Given the description of an element on the screen output the (x, y) to click on. 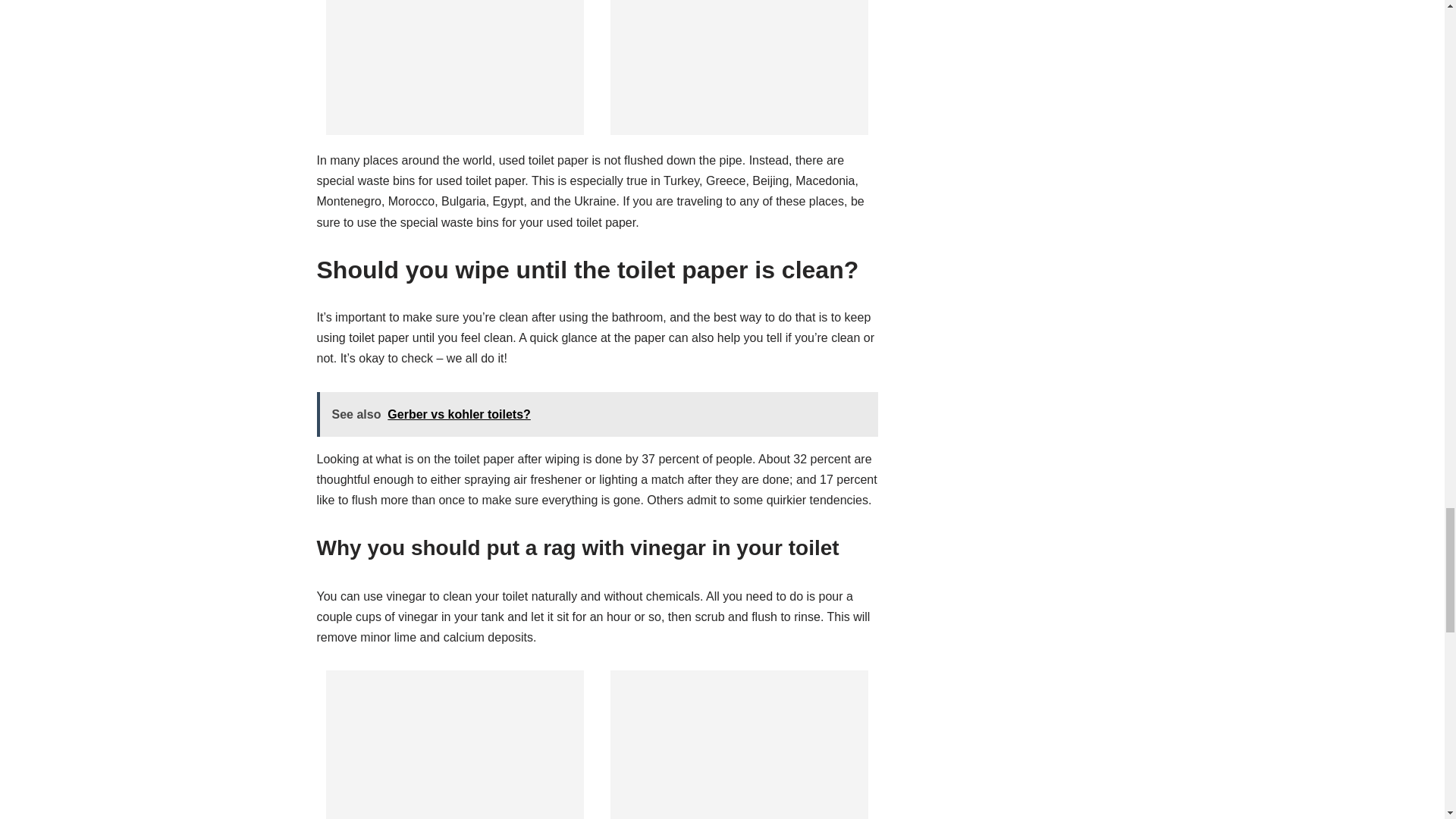
See also  Gerber vs kohler toilets? (597, 414)
